Given the description of an element on the screen output the (x, y) to click on. 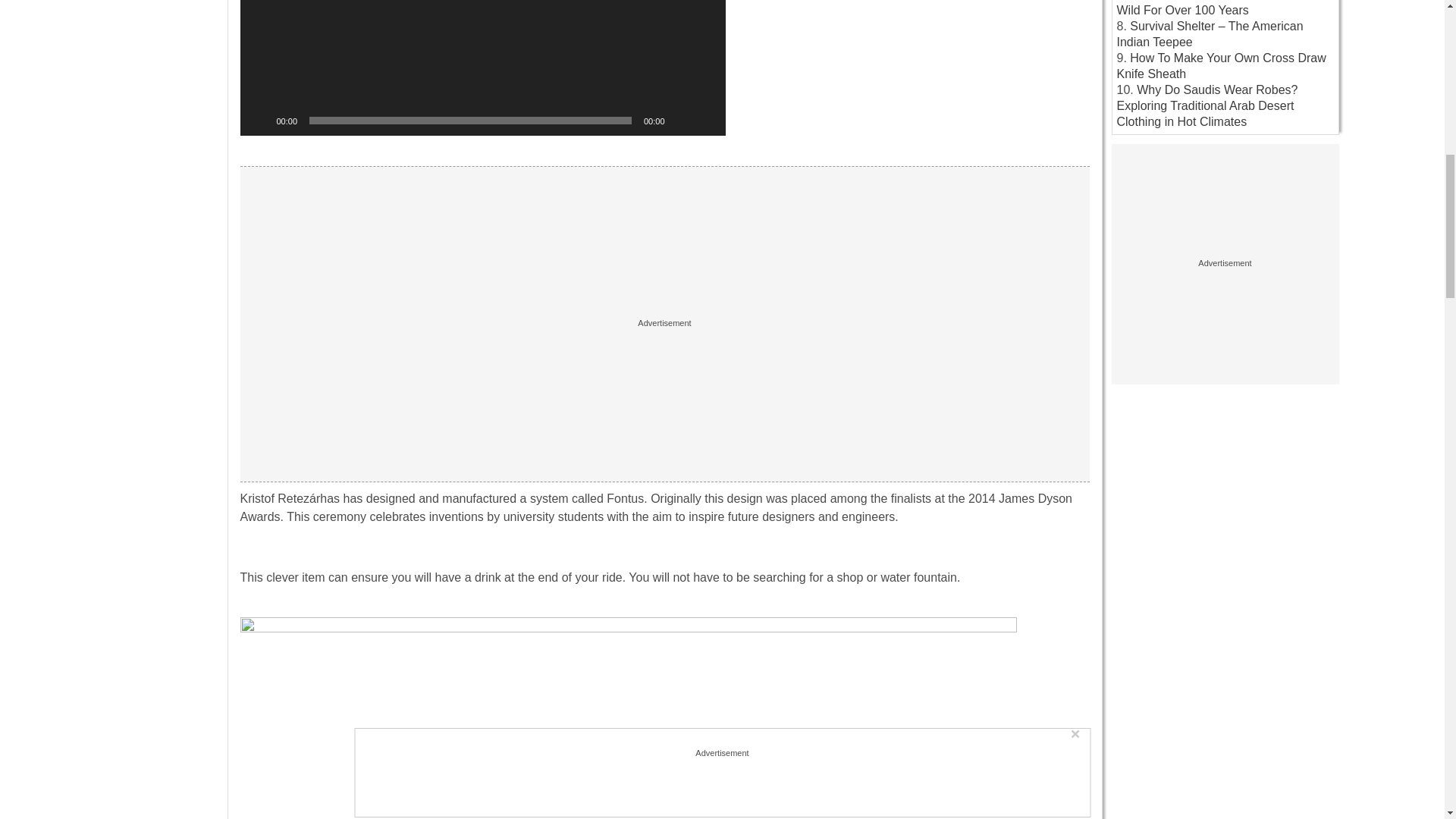
Fullscreen (705, 120)
Play (258, 120)
Mute (680, 120)
